Given the description of an element on the screen output the (x, y) to click on. 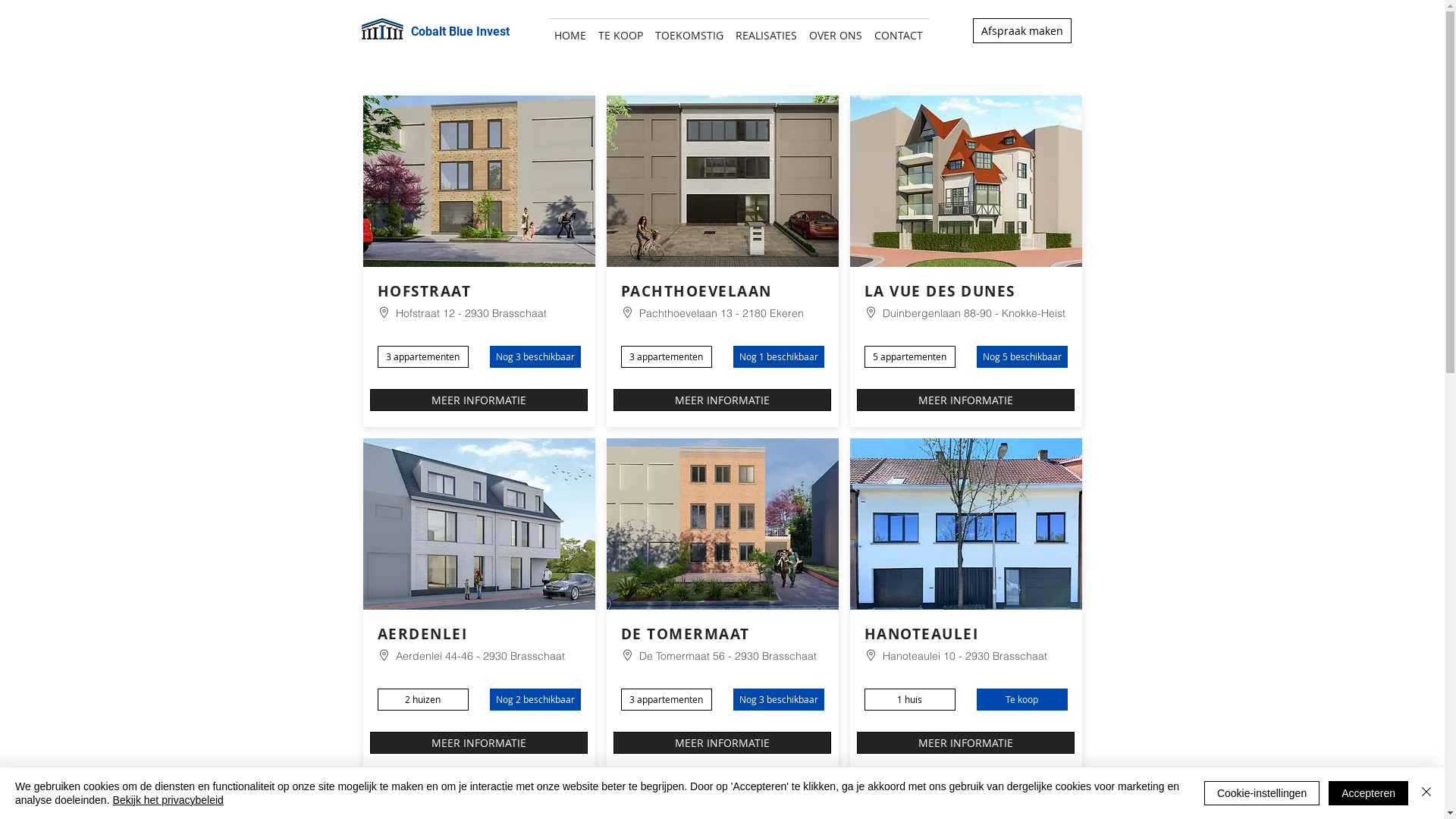
Cookie-instellingen Element type: text (1261, 793)
5 appartementen Element type: text (909, 356)
MEER INFORMATIE Element type: text (478, 742)
3 appartementen Element type: text (665, 699)
3 appartementen Element type: text (665, 356)
Nog 3 beschikbaar Element type: text (777, 699)
TE KOOP Element type: text (620, 28)
Afspraak maken Element type: text (1021, 30)
1 huis Element type: text (909, 699)
Bekijk het privacybeleid Element type: text (167, 799)
TOEKOMSTIG Element type: text (689, 28)
Te koop Element type: text (1021, 699)
3 appartementen Element type: text (422, 356)
Nog 1 beschikbaar Element type: text (777, 356)
CONTACT Element type: text (898, 28)
OVER ONS Element type: text (835, 28)
Nog 5 beschikbaar Element type: text (1021, 356)
HOME Element type: text (570, 28)
MEER INFORMATIE Element type: text (965, 742)
Cobalt Blue Invest Element type: text (460, 31)
REALISATIES Element type: text (766, 28)
MEER INFORMATIE Element type: text (721, 400)
2 huizen Element type: text (422, 699)
Accepteren Element type: text (1368, 793)
Nog 3 beschikbaar Element type: text (534, 356)
Nog 2 beschikbaar Element type: text (534, 699)
MEER INFORMATIE Element type: text (965, 400)
MEER INFORMATIE Element type: text (478, 400)
MEER INFORMATIE Element type: text (721, 742)
